Given the description of an element on the screen output the (x, y) to click on. 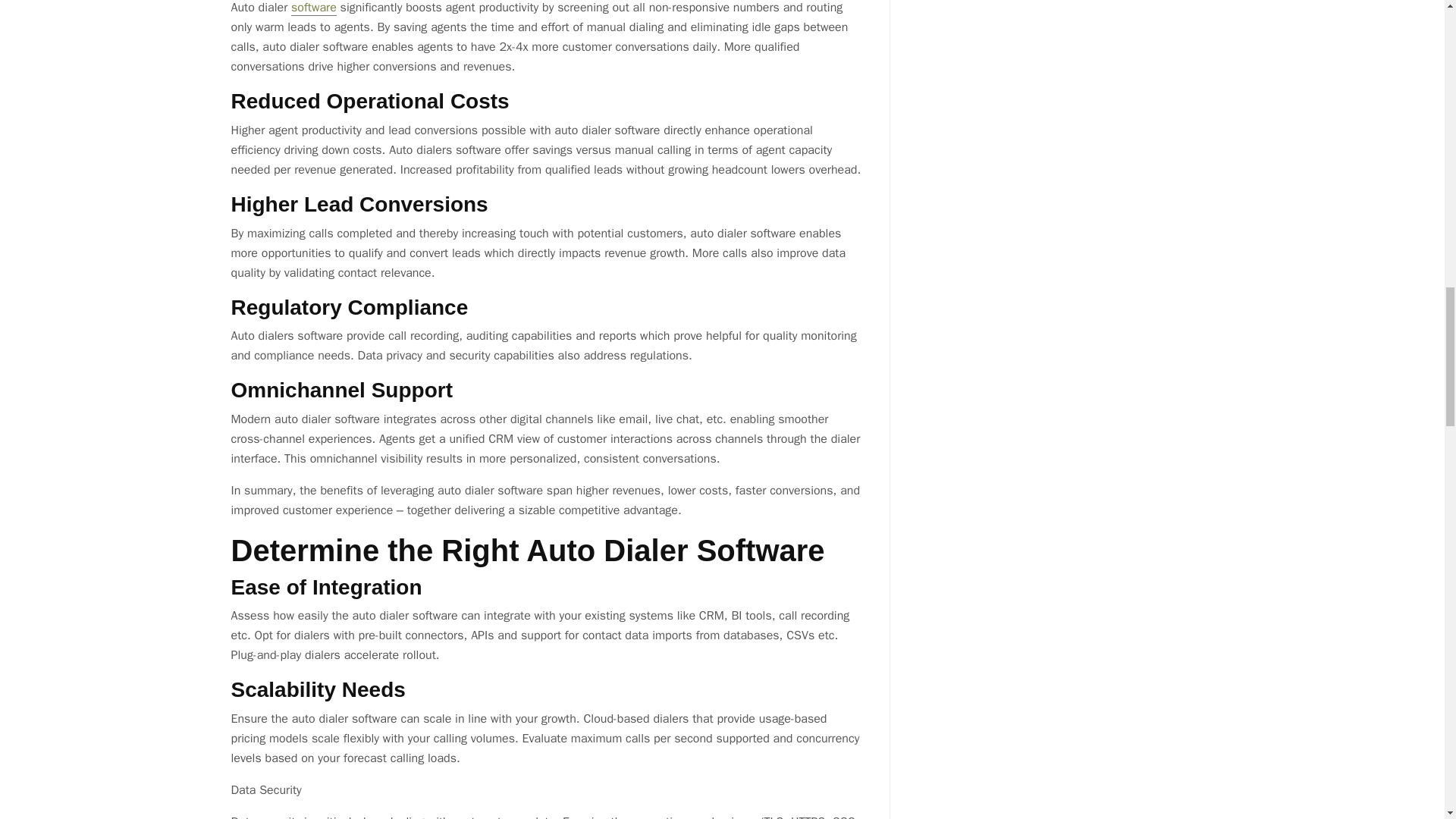
software (313, 7)
